Given the description of an element on the screen output the (x, y) to click on. 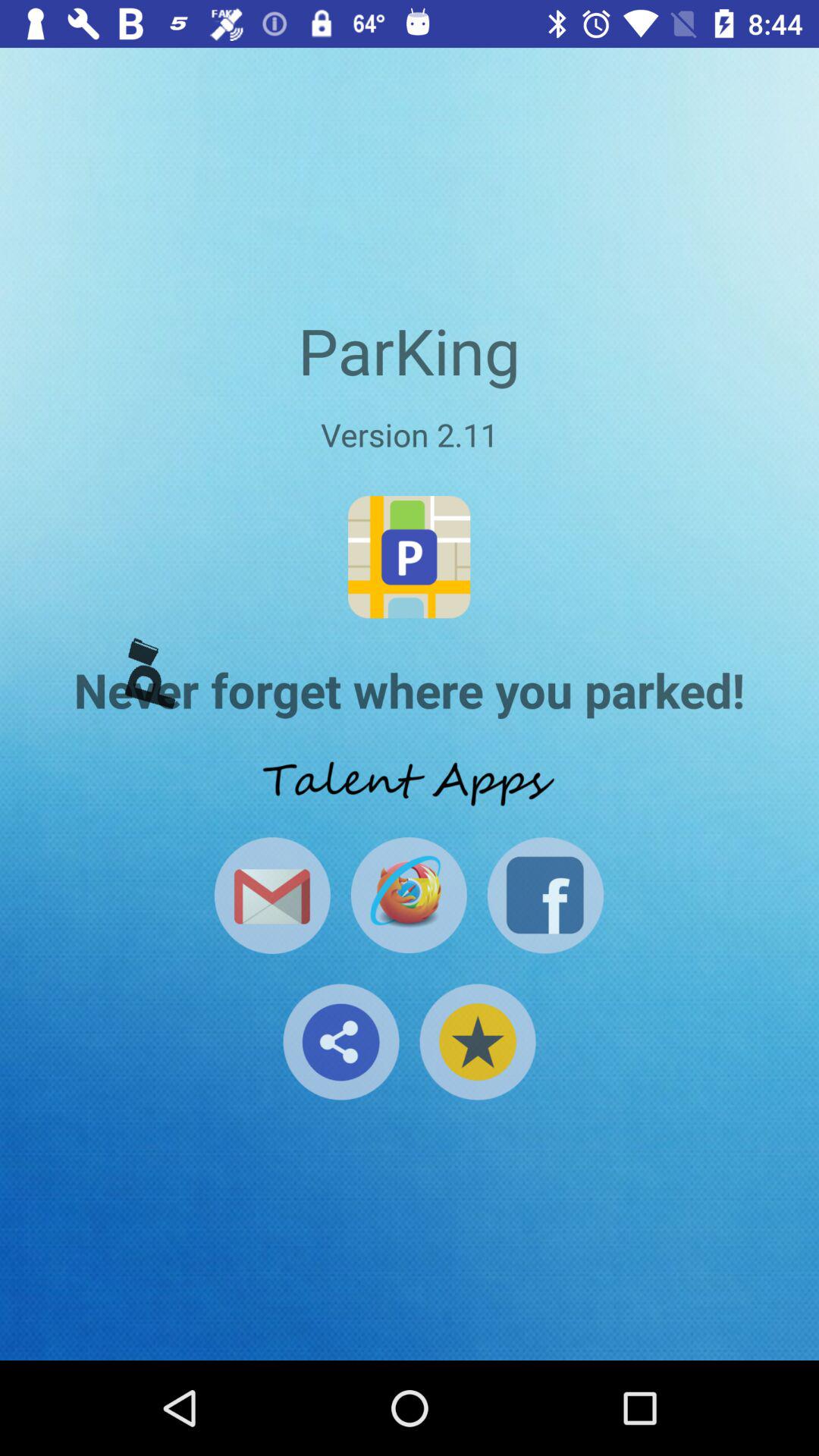
firefox button (408, 895)
